Given the description of an element on the screen output the (x, y) to click on. 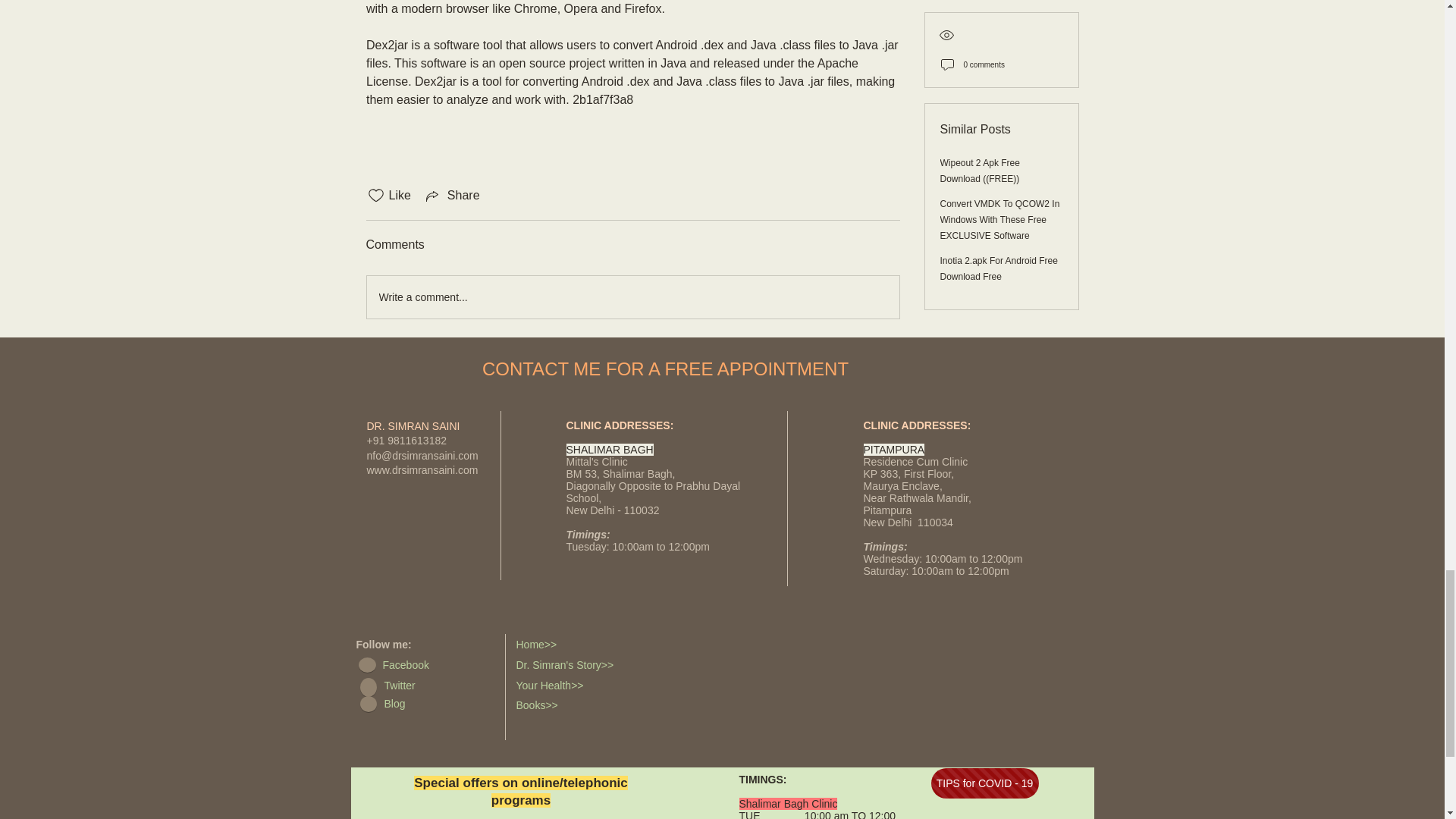
www.drsimransaini.com (422, 469)
TIPS for COVID - 19 (985, 783)
Twitter (426, 686)
Write a comment... (632, 297)
Facebook (424, 666)
Share (451, 195)
